Given the description of an element on the screen output the (x, y) to click on. 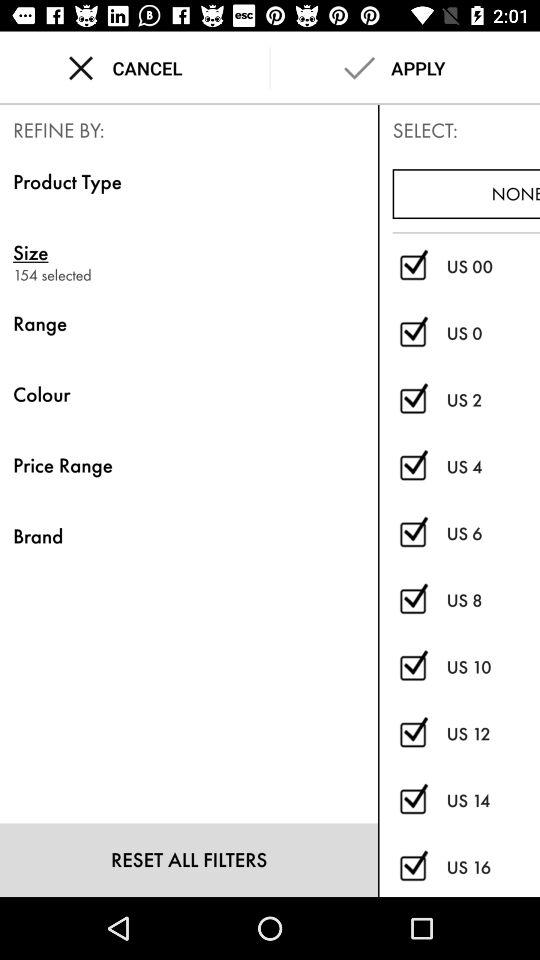
select us size 0 (412, 333)
